Given the description of an element on the screen output the (x, y) to click on. 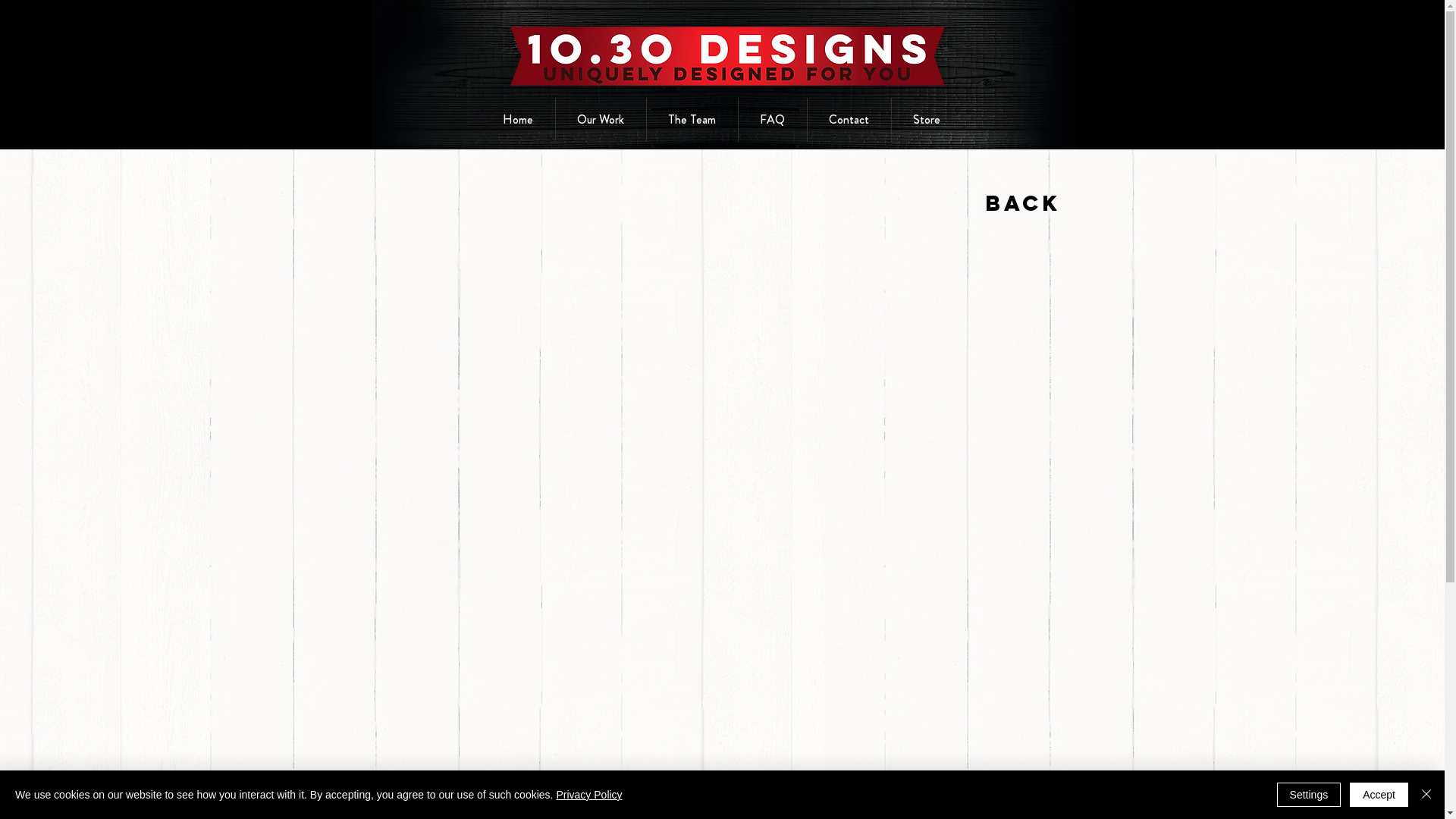
Home Element type: text (517, 119)
Contact Element type: text (848, 119)
Settings Element type: text (1309, 794)
Our Work Element type: text (600, 119)
Store Element type: text (926, 119)
back Element type: text (1022, 203)
FAQ Element type: text (772, 119)
Accept Element type: text (1378, 794)
Privacy Policy Element type: text (588, 794)
The Team Element type: text (691, 119)
